Given the description of an element on the screen output the (x, y) to click on. 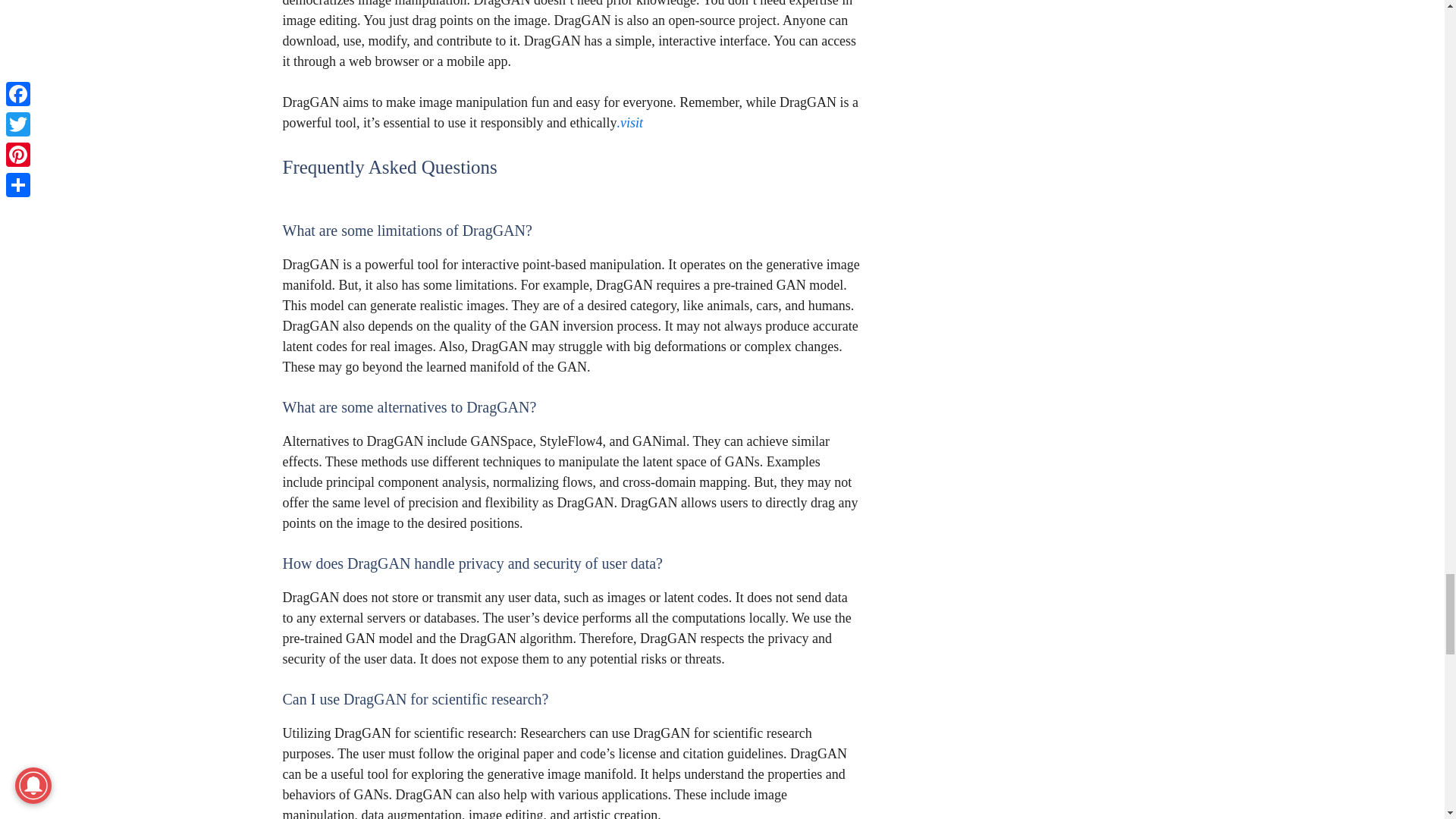
.visit (629, 122)
